Given the description of an element on the screen output the (x, y) to click on. 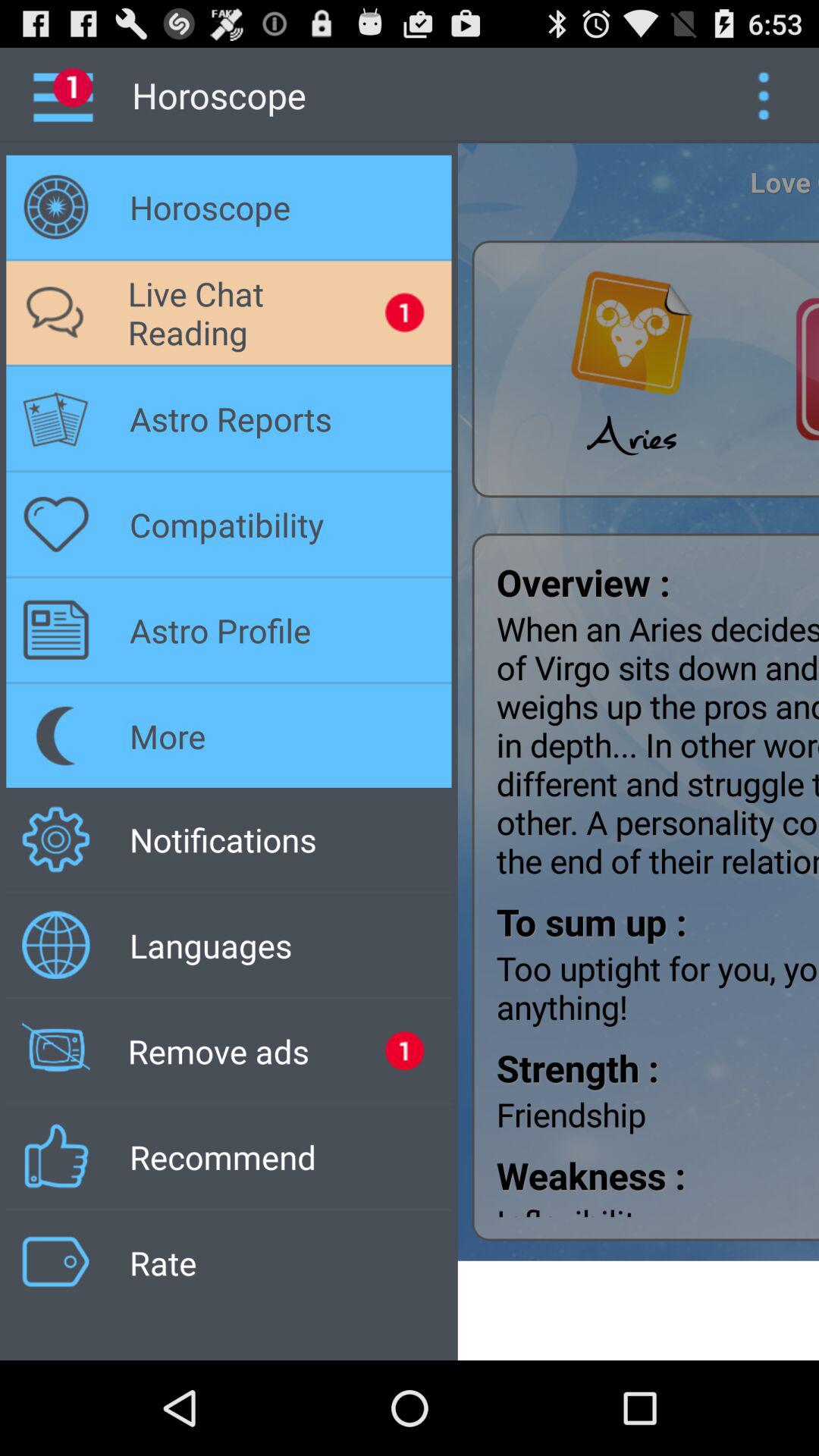
press item next to the horoscope (763, 95)
